Given the description of an element on the screen output the (x, y) to click on. 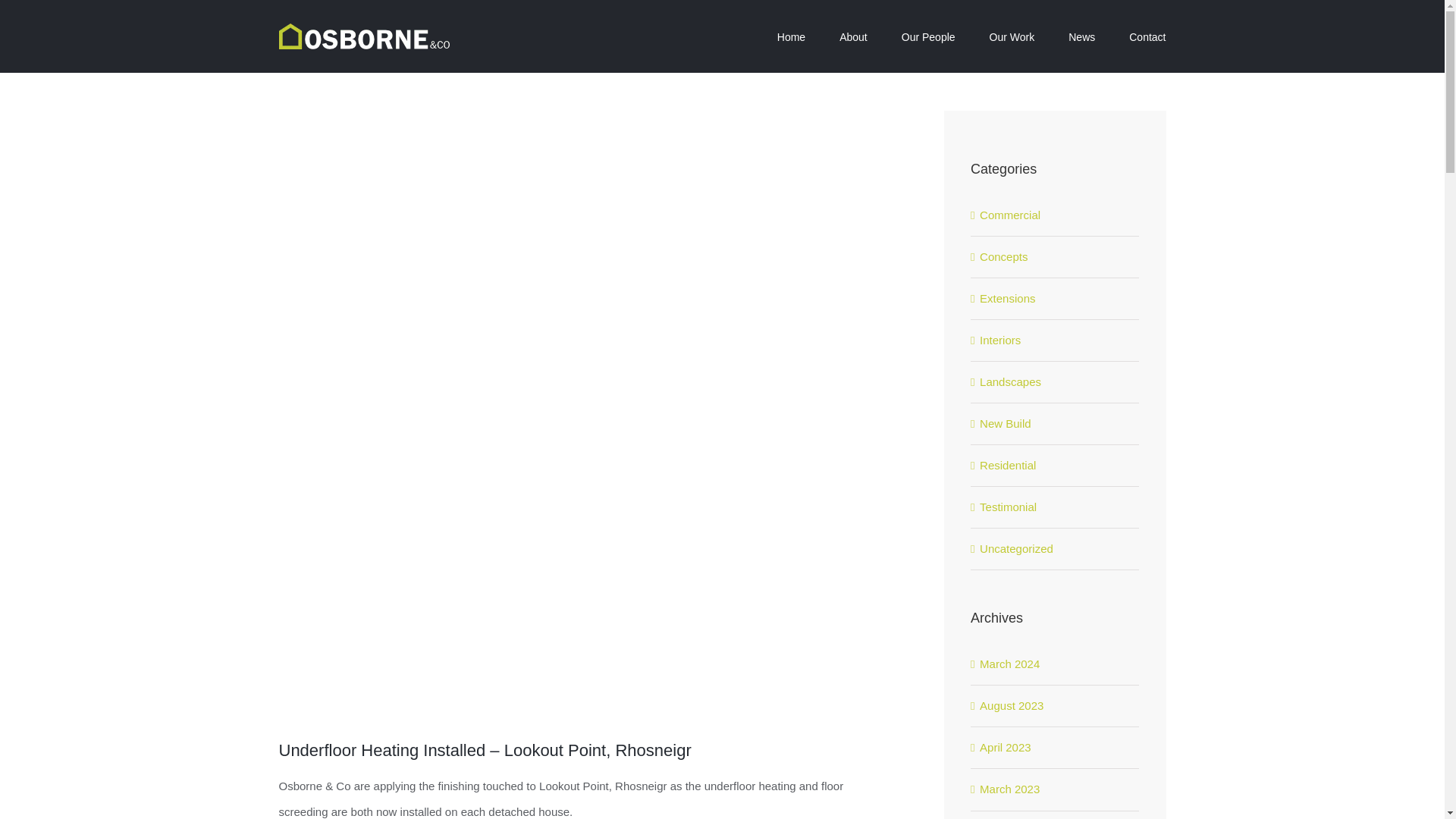
Concepts (1055, 257)
Interiors (1055, 339)
Residential (1055, 465)
Landscapes (1055, 381)
Commercial (1055, 215)
Testimonial (1055, 507)
New Build (1055, 423)
Extensions (1055, 298)
